Given the description of an element on the screen output the (x, y) to click on. 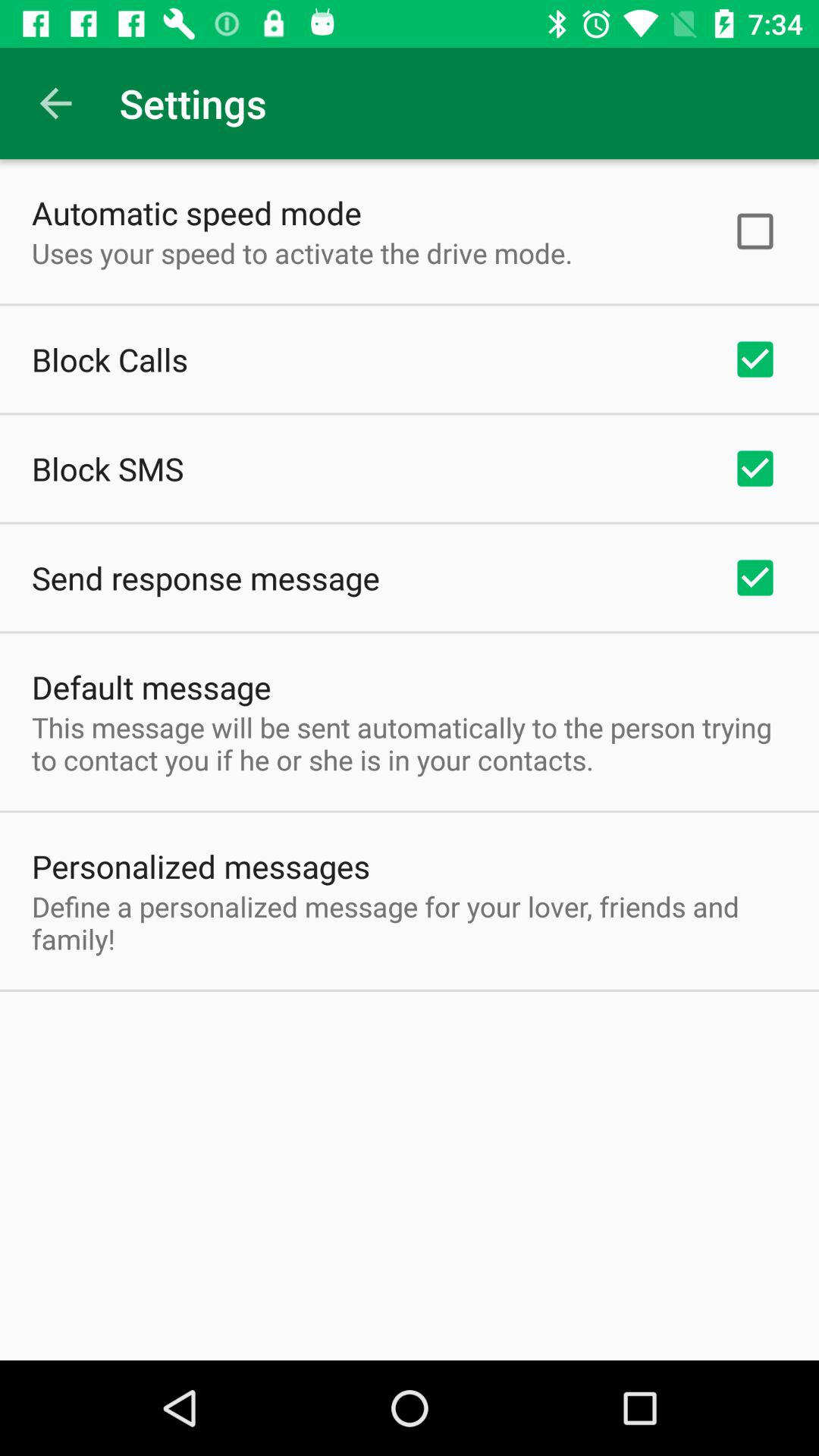
select item above the block sms item (109, 359)
